Given the description of an element on the screen output the (x, y) to click on. 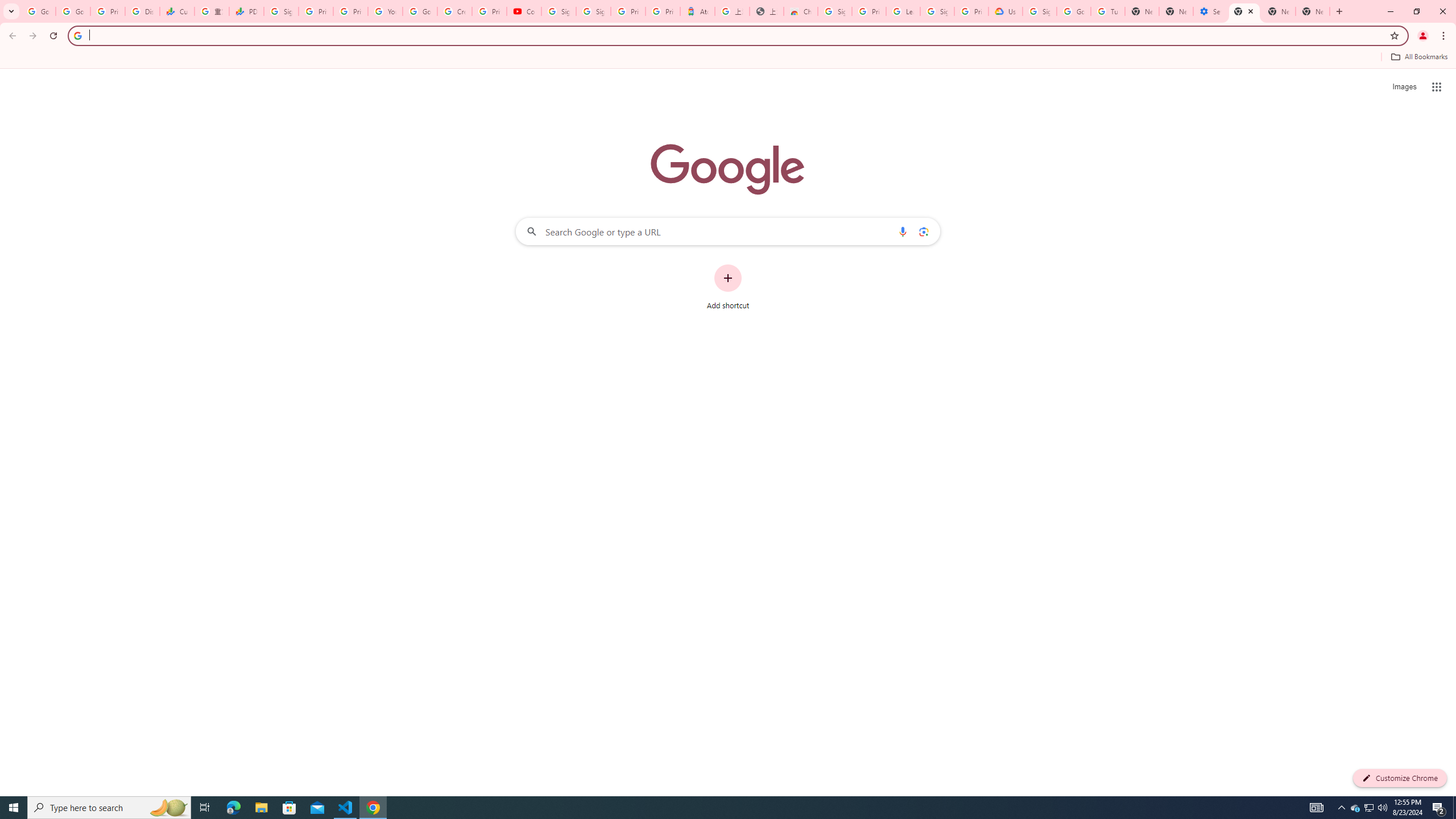
YouTube (384, 11)
